Given the description of an element on the screen output the (x, y) to click on. 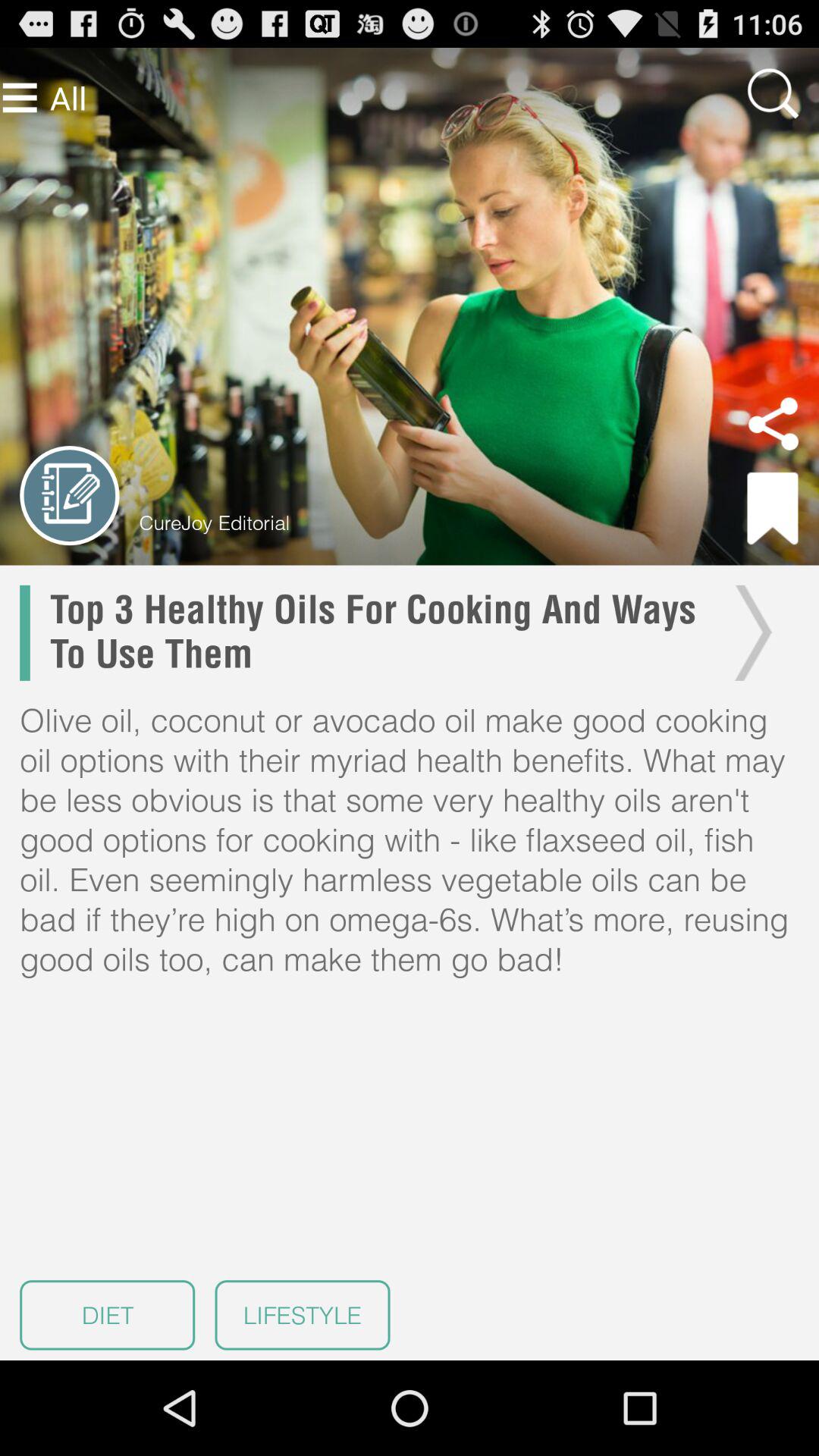
scroll to top 3 healthy (374, 632)
